Given the description of an element on the screen output the (x, y) to click on. 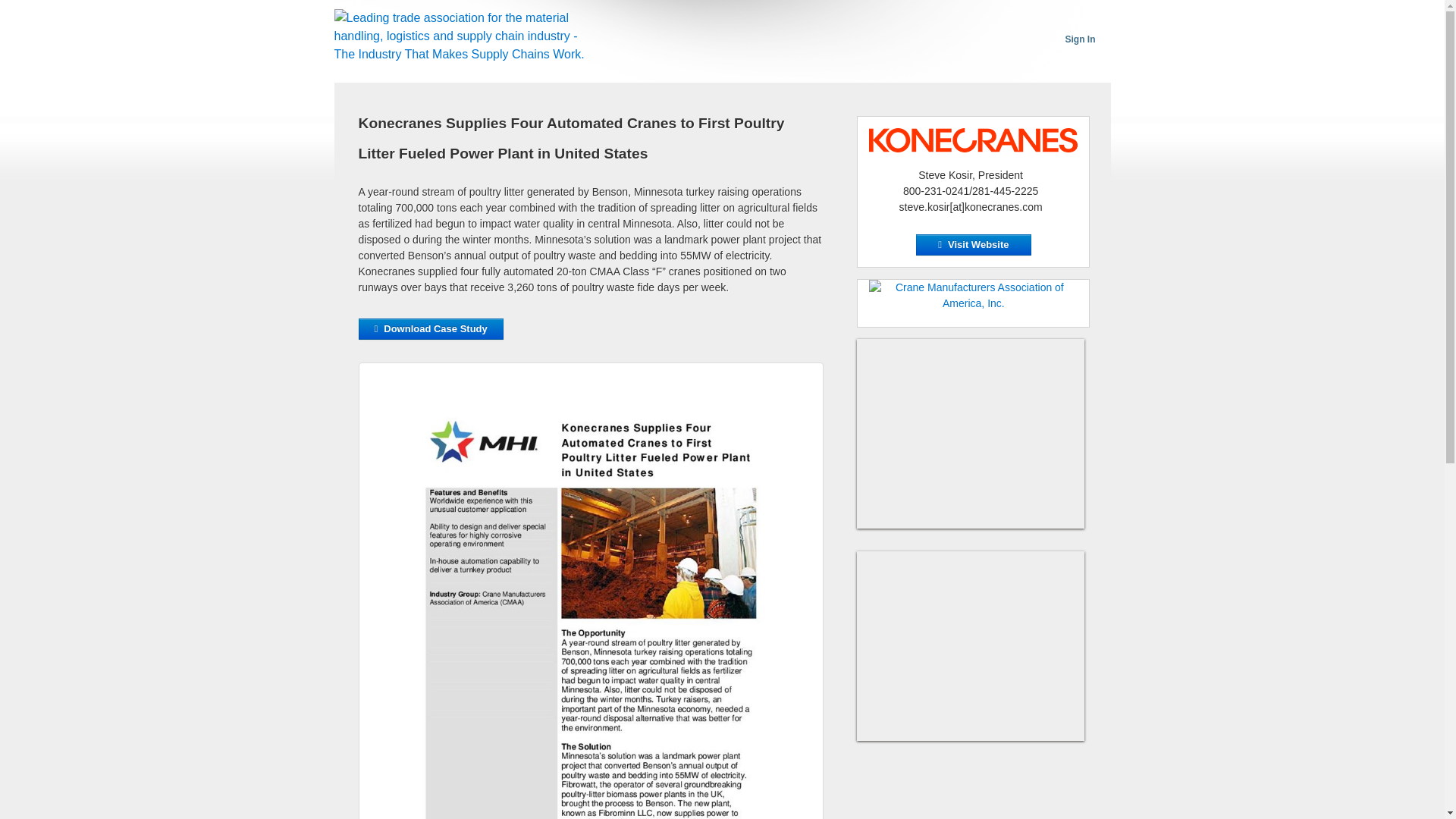
Crane Manufacturers Association of America, Inc. (973, 296)
Visit Website (972, 244)
Sign In (1079, 39)
Download Case Study (430, 328)
